Given the description of an element on the screen output the (x, y) to click on. 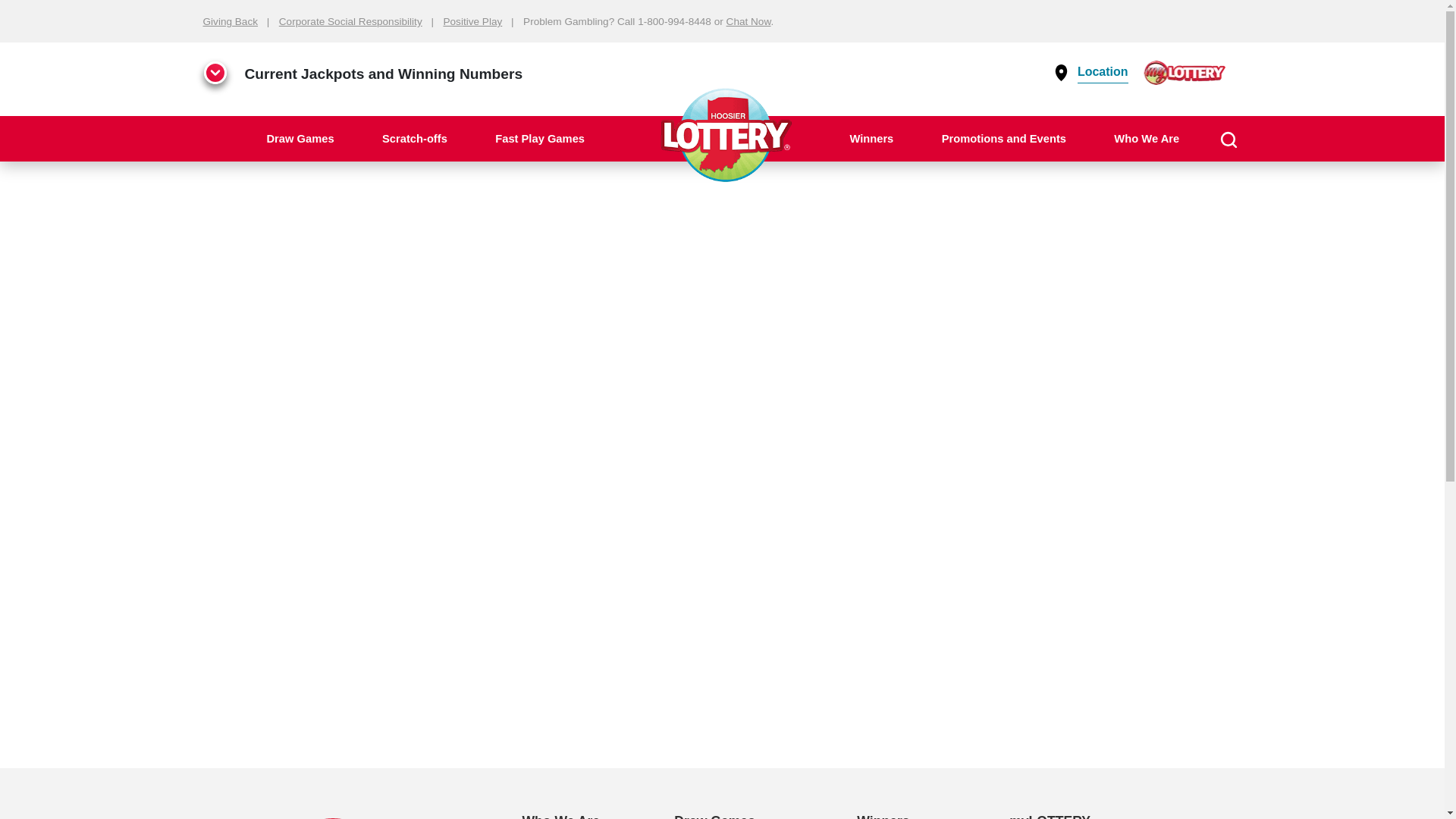
Chat Now (748, 21)
Scratch-offs (414, 138)
Go (1417, 188)
Giving Back (231, 21)
Who We Are (1147, 138)
Positive Play (472, 21)
Winners (871, 138)
Draw Games (300, 138)
myLottery (1183, 71)
Promotions and Events (1002, 138)
